Given the description of an element on the screen output the (x, y) to click on. 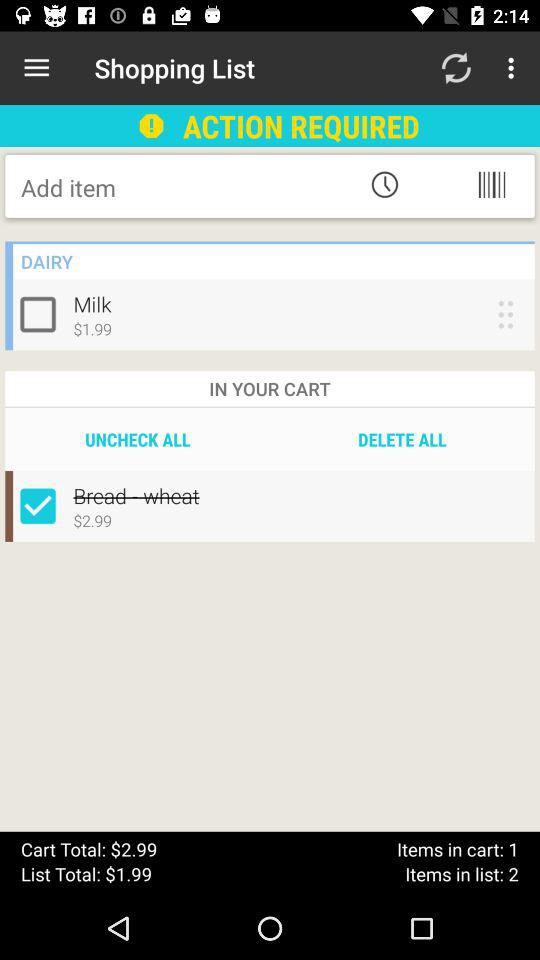
press the icon next to shopping list item (36, 68)
